Given the description of an element on the screen output the (x, y) to click on. 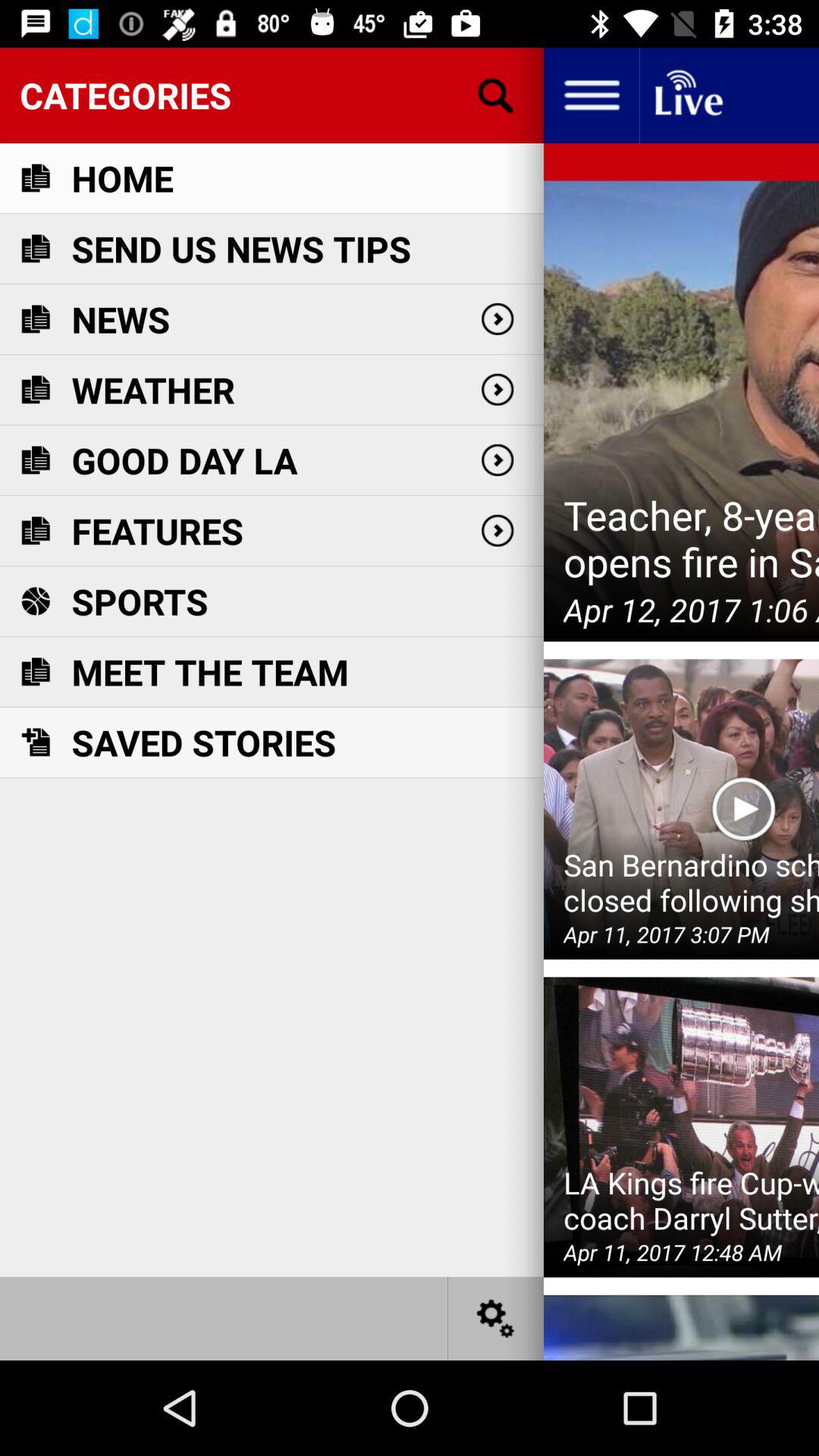
launch the meet the team (209, 671)
